Given the description of an element on the screen output the (x, y) to click on. 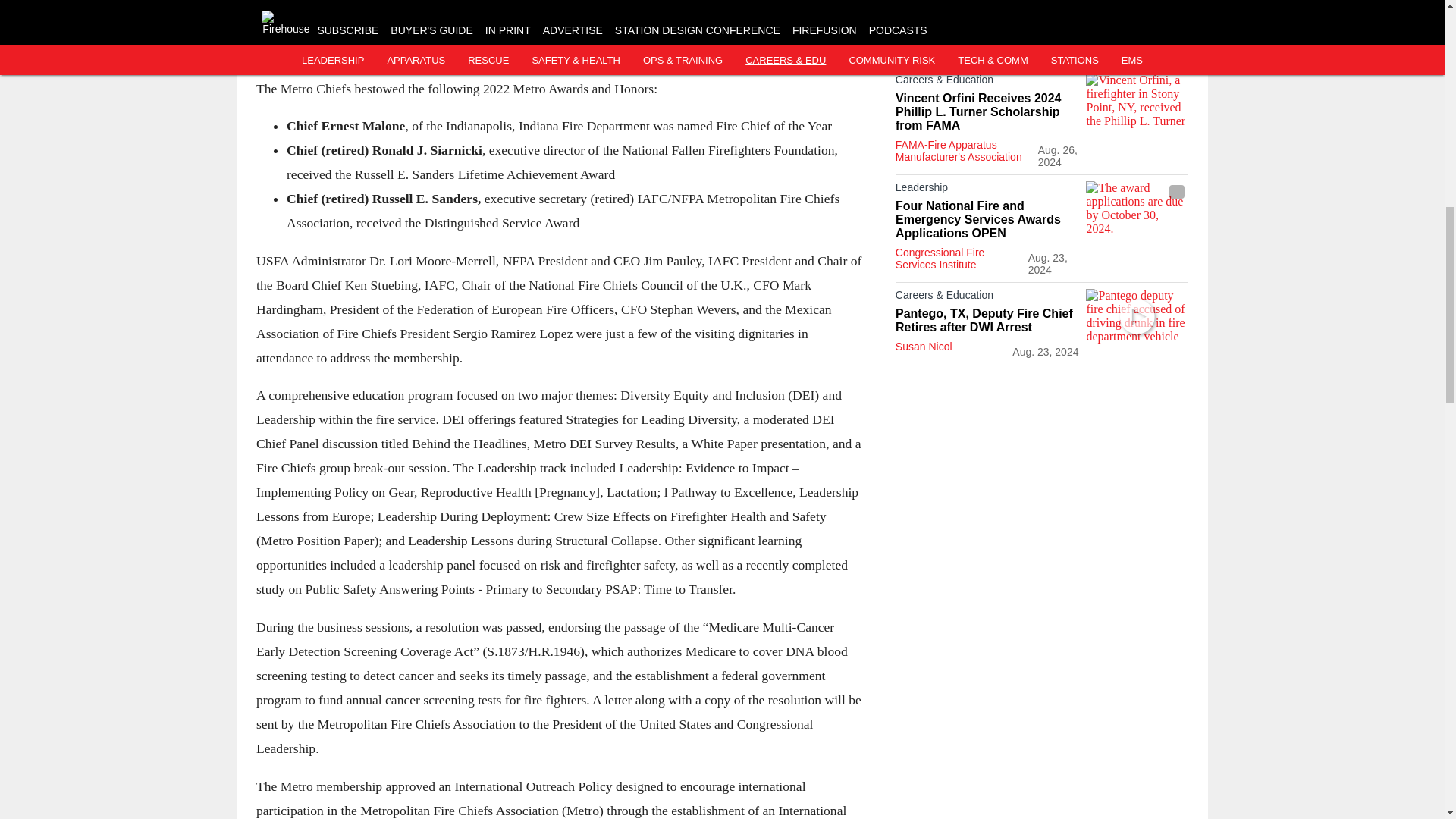
The award applications are due by October 30, 2024. (1137, 209)
